Given the description of an element on the screen output the (x, y) to click on. 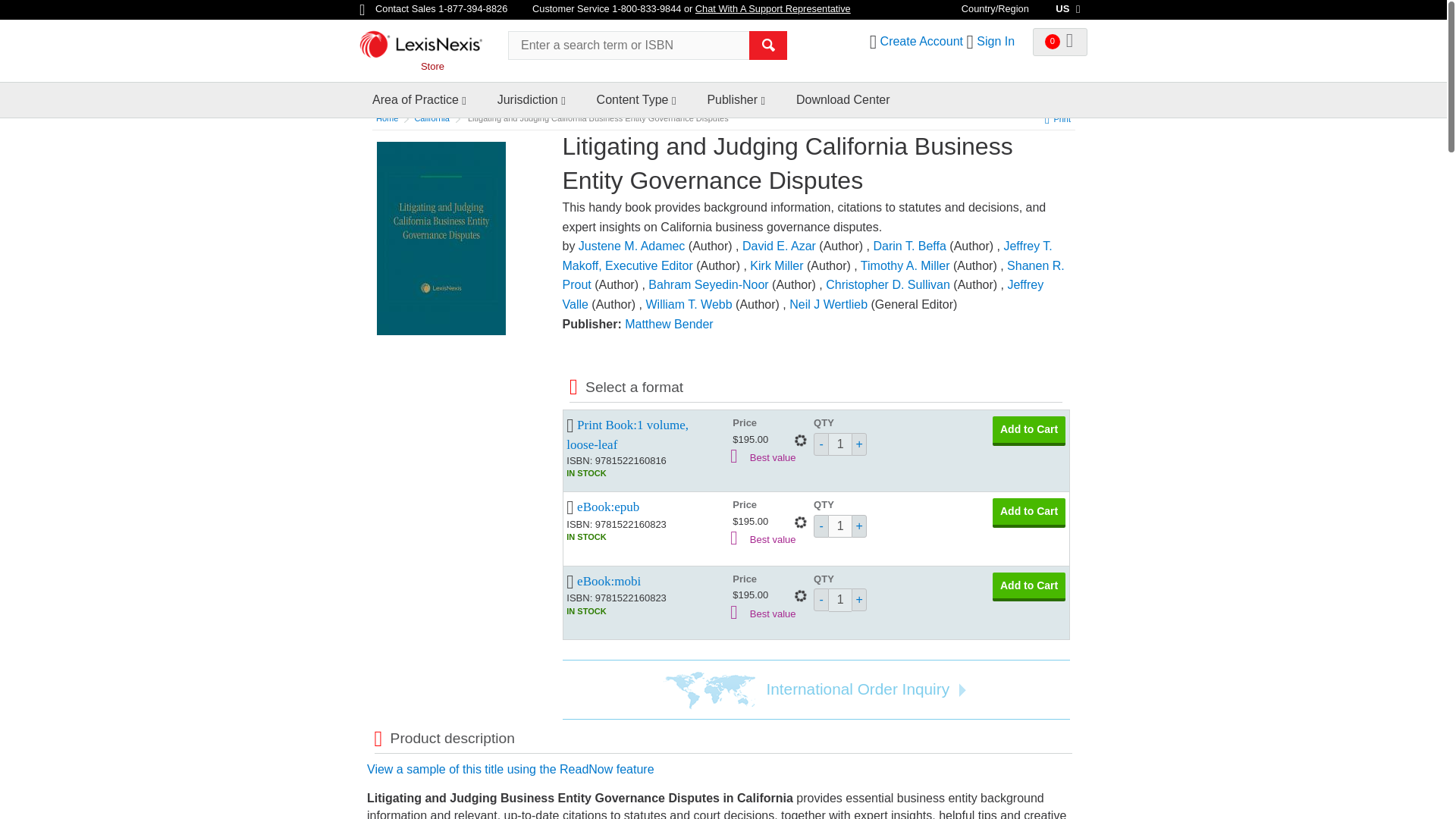
1 (839, 526)
1 (839, 444)
Sign In (995, 41)
Search (768, 45)
1 (839, 599)
Search (768, 45)
Create Account (921, 41)
Contact Sales 1-877-394-8826 (435, 8)
0 (1059, 41)
Lexis Nexis Store (427, 48)
Area of Practice (415, 99)
